Given the description of an element on the screen output the (x, y) to click on. 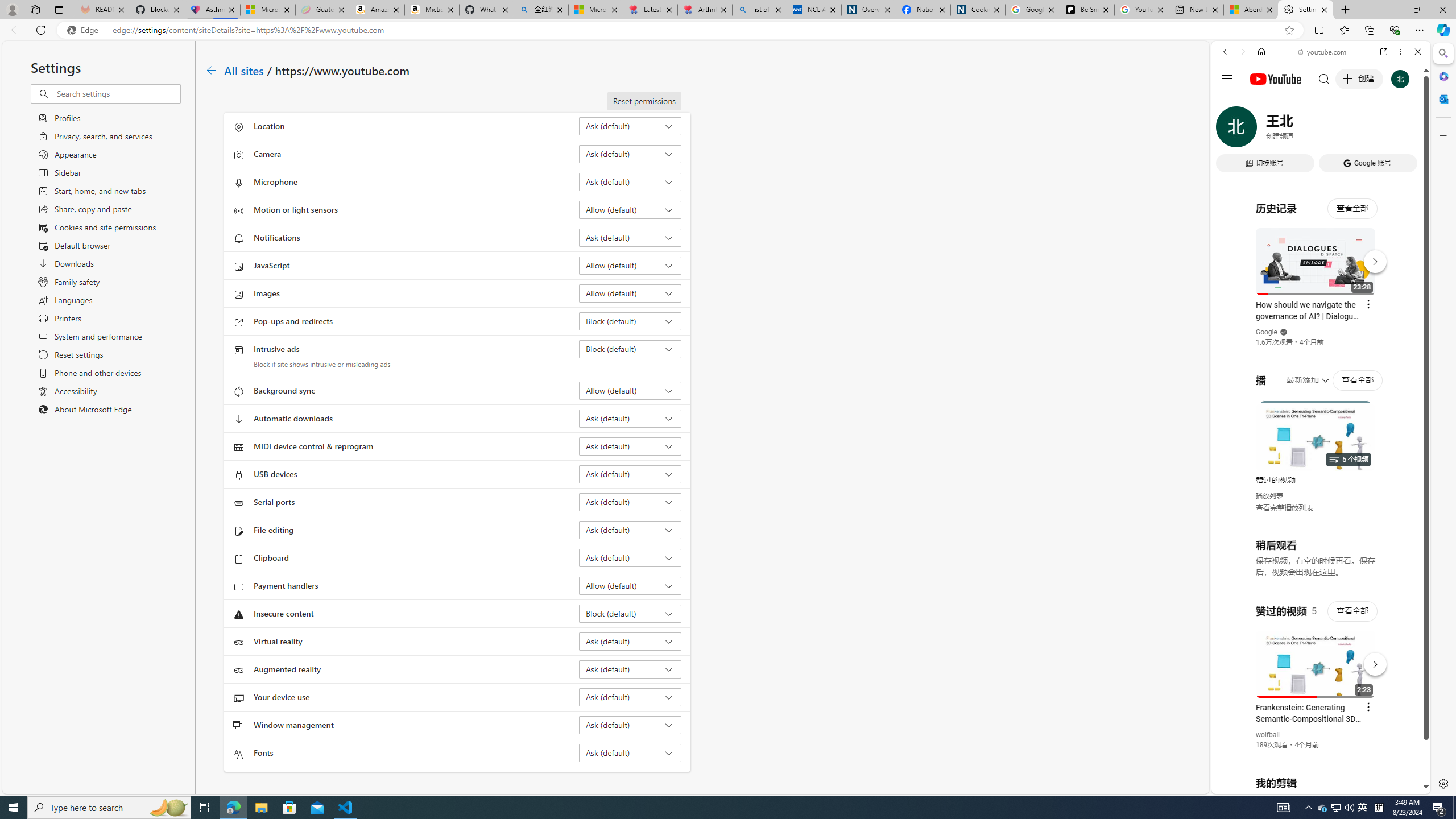
All sites (244, 69)
#you (1315, 659)
Google (1266, 331)
JavaScript Allow (default) (630, 265)
MIDI device control & reprogram Ask (default) (630, 446)
Search Filter, IMAGES (1262, 129)
